Given the description of an element on the screen output the (x, y) to click on. 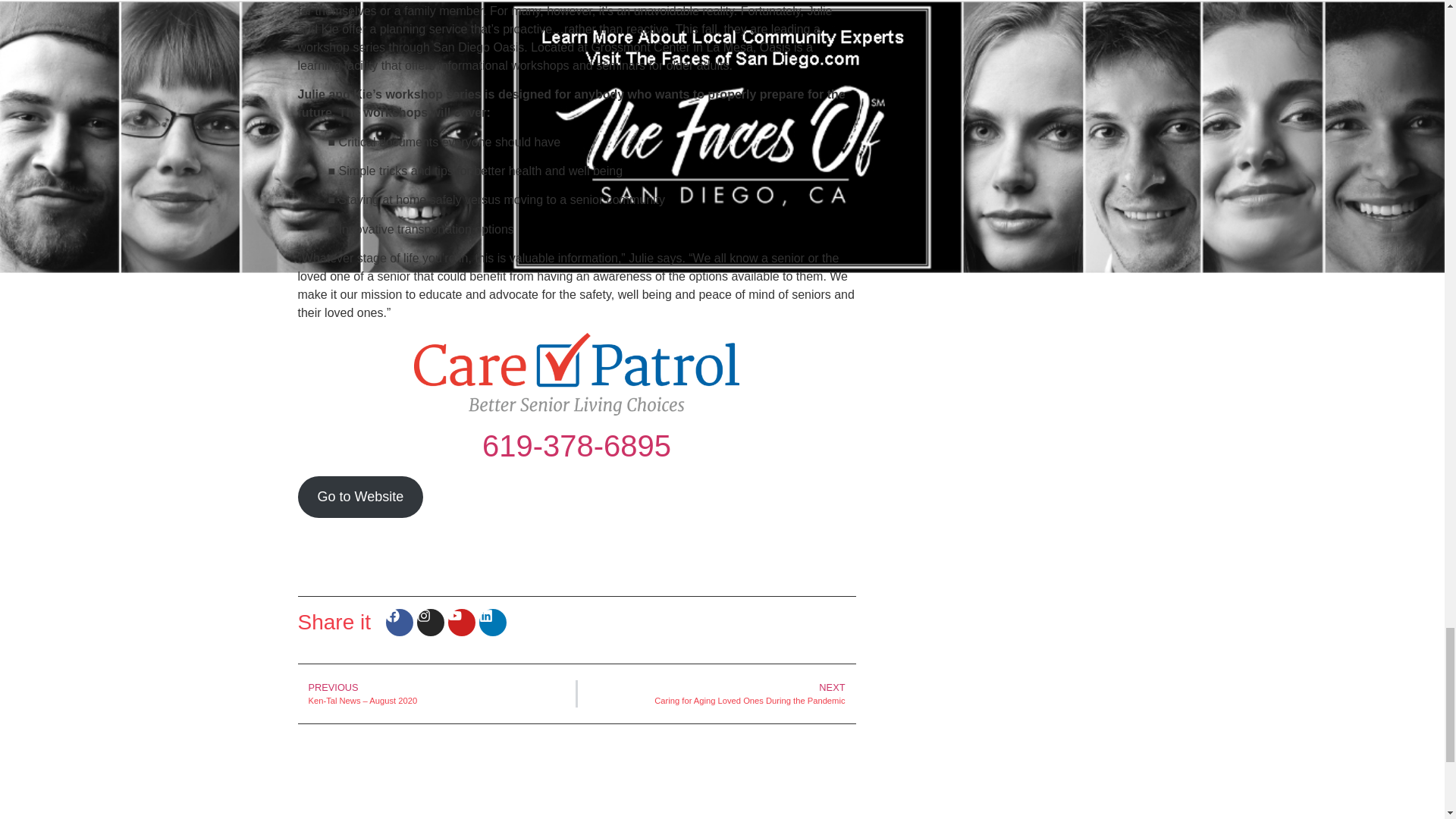
Care Patrol (576, 373)
